Given the description of an element on the screen output the (x, y) to click on. 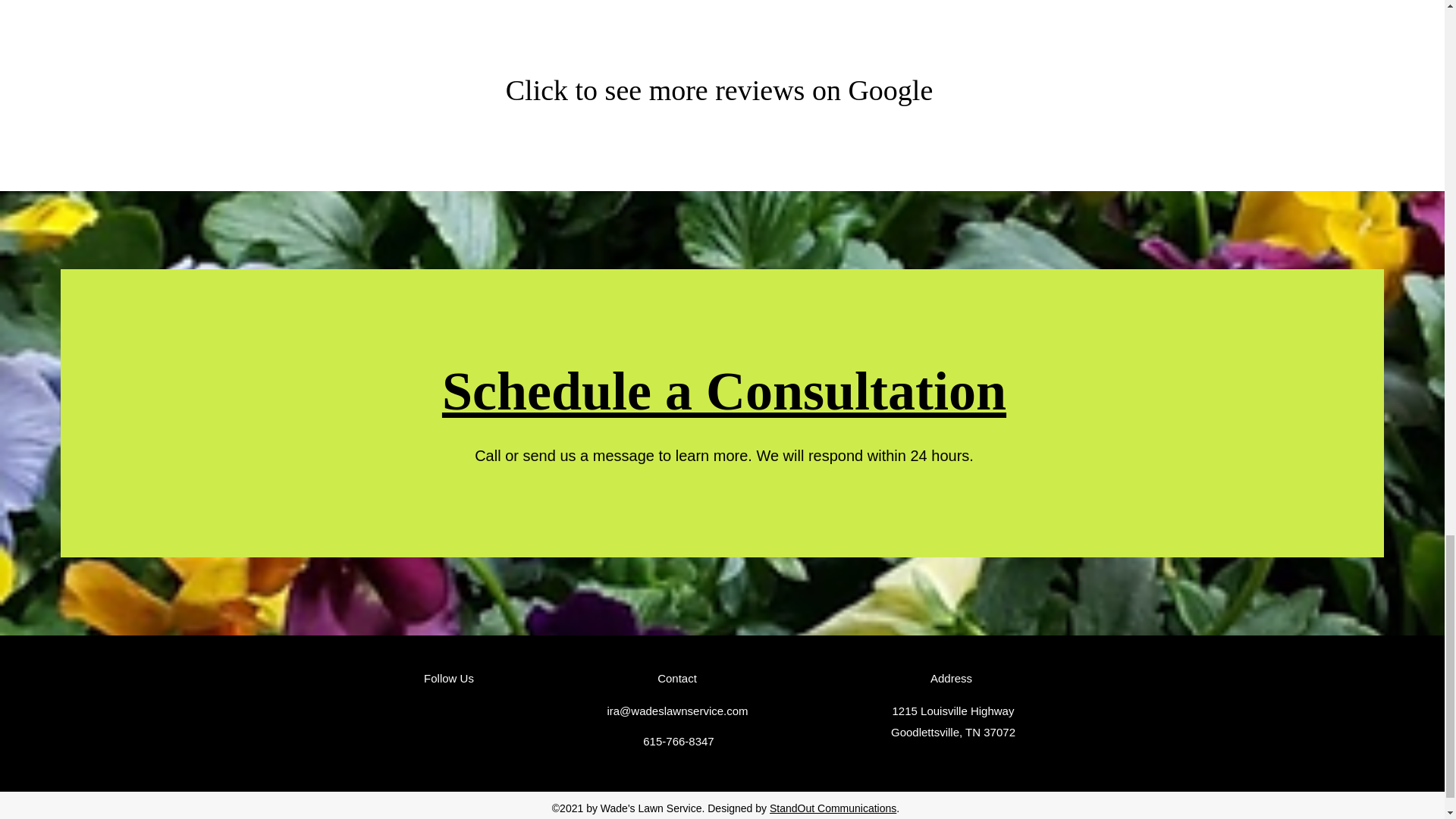
Click to see more reviews on Google (719, 90)
Schedule a Consultation (724, 391)
StandOut Communications (833, 808)
